Given the description of an element on the screen output the (x, y) to click on. 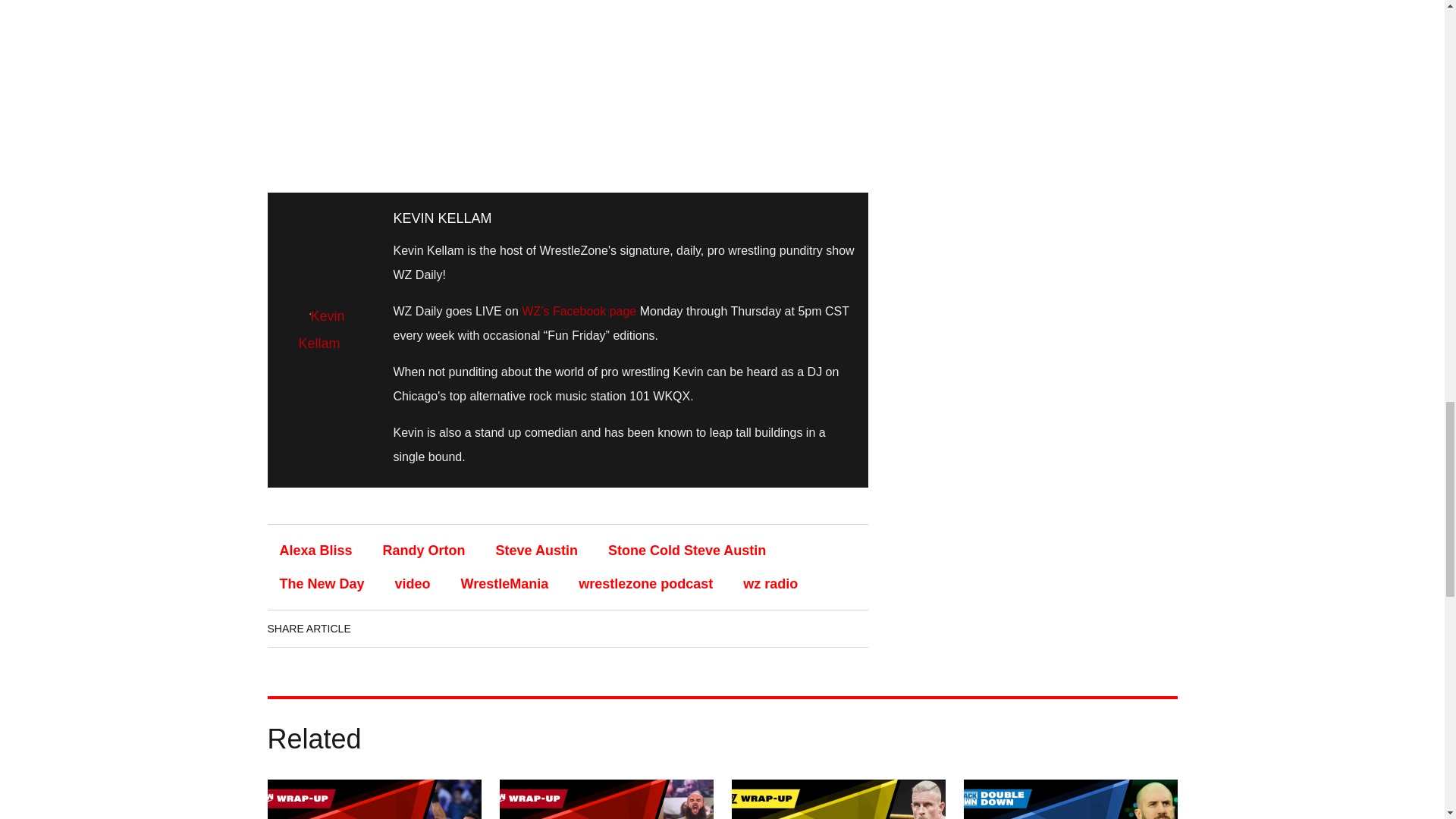
WrestleZone (566, 85)
